Given the description of an element on the screen output the (x, y) to click on. 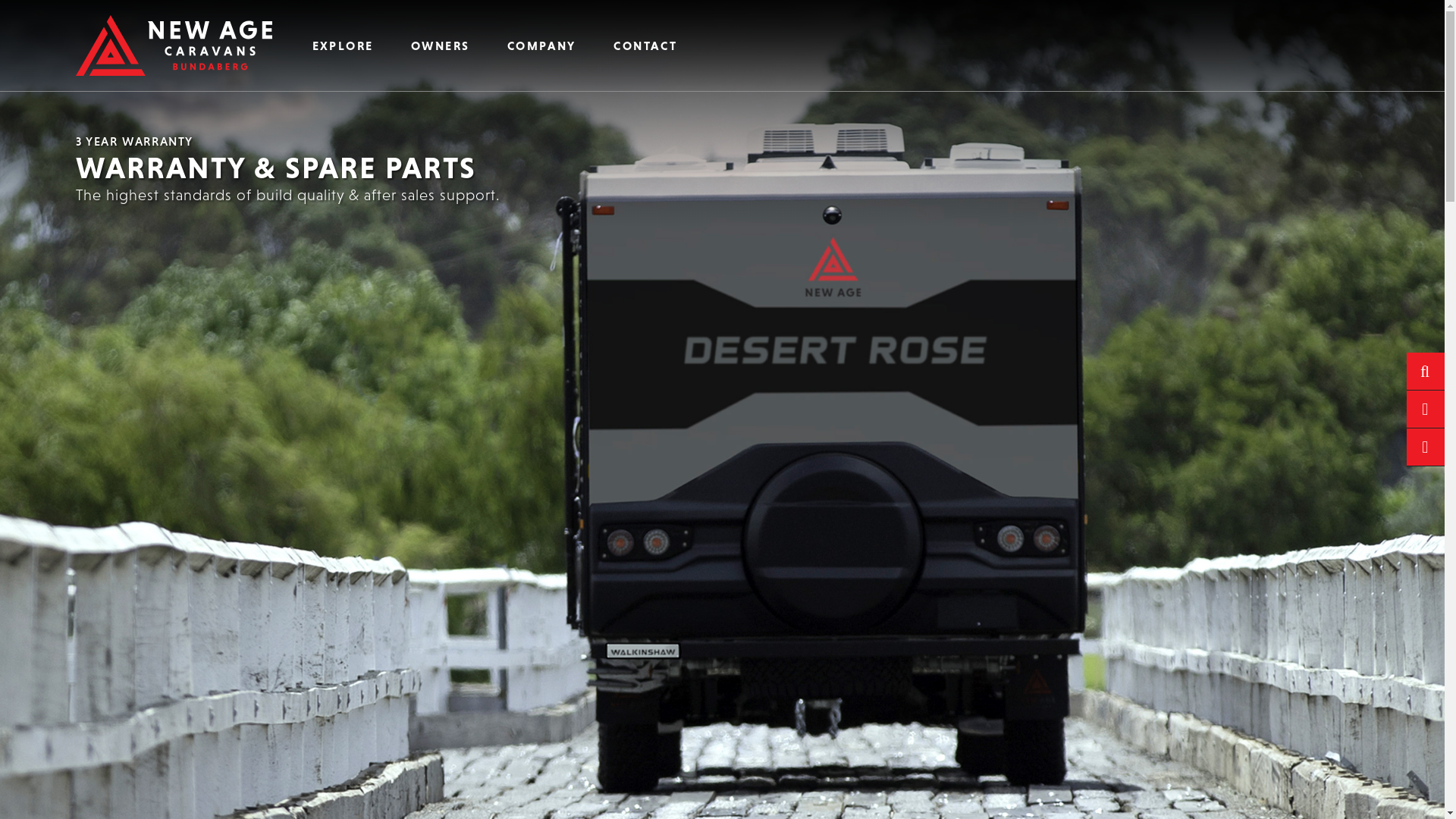
OWNERS Element type: text (440, 45)
COMPANY Element type: text (541, 45)
CONTACT Element type: text (645, 45)
EXPLORE Element type: text (342, 45)
